Given the description of an element on the screen output the (x, y) to click on. 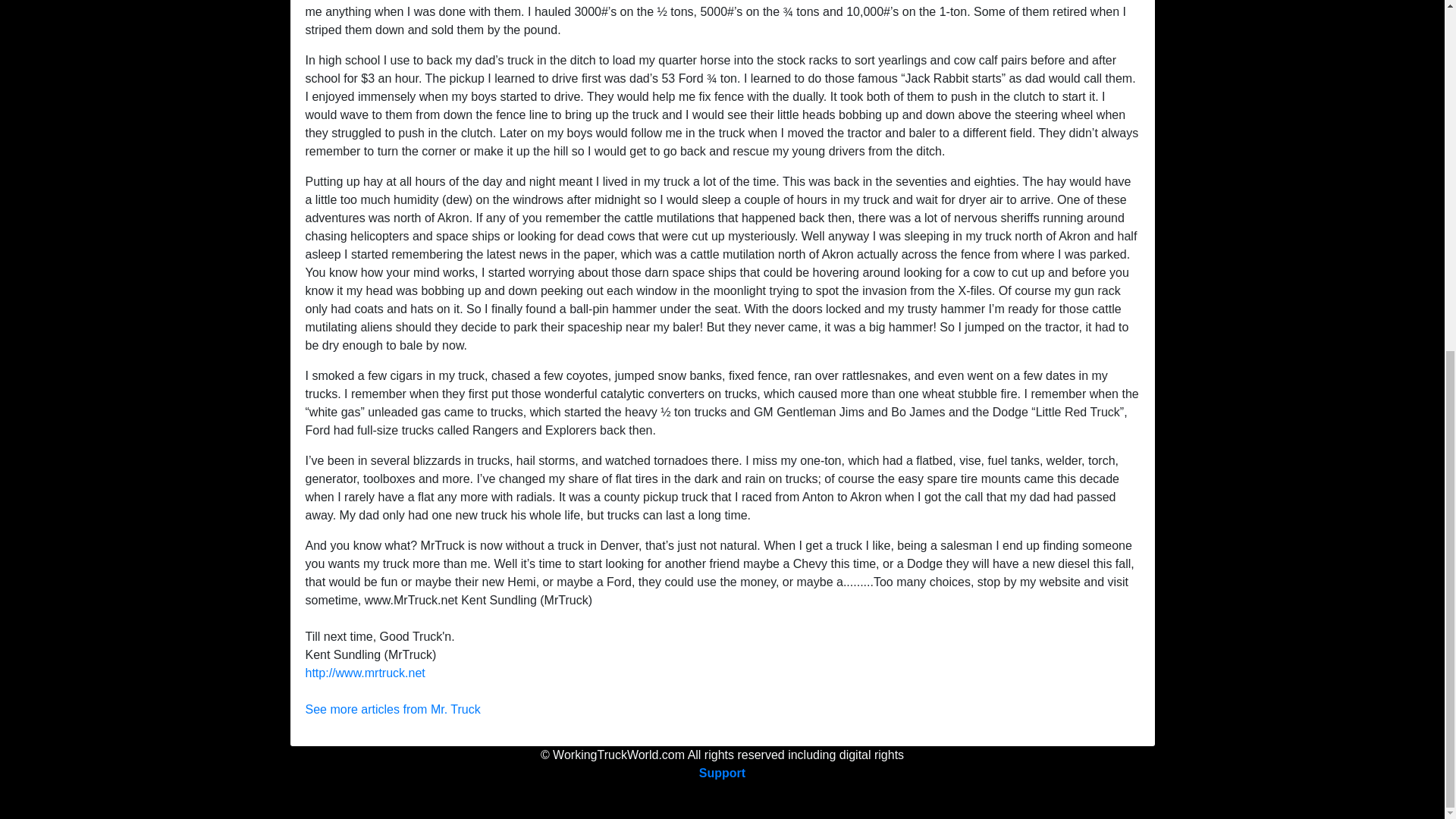
See more articles from Mr. Truck (392, 708)
Support (721, 772)
